Given the description of an element on the screen output the (x, y) to click on. 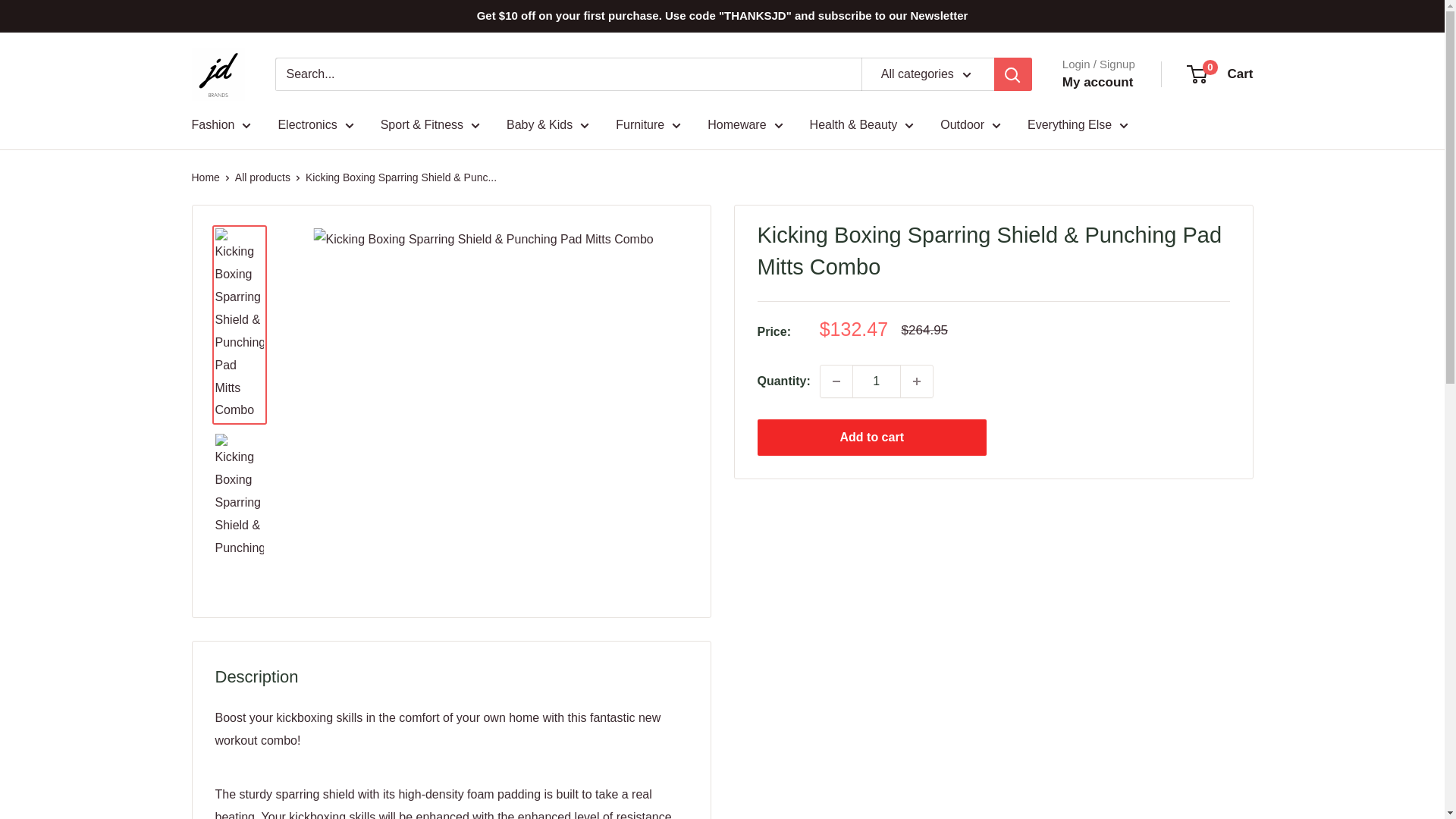
Increase quantity by 1 (917, 381)
Decrease quantity by 1 (836, 381)
1 (876, 381)
